Given the description of an element on the screen output the (x, y) to click on. 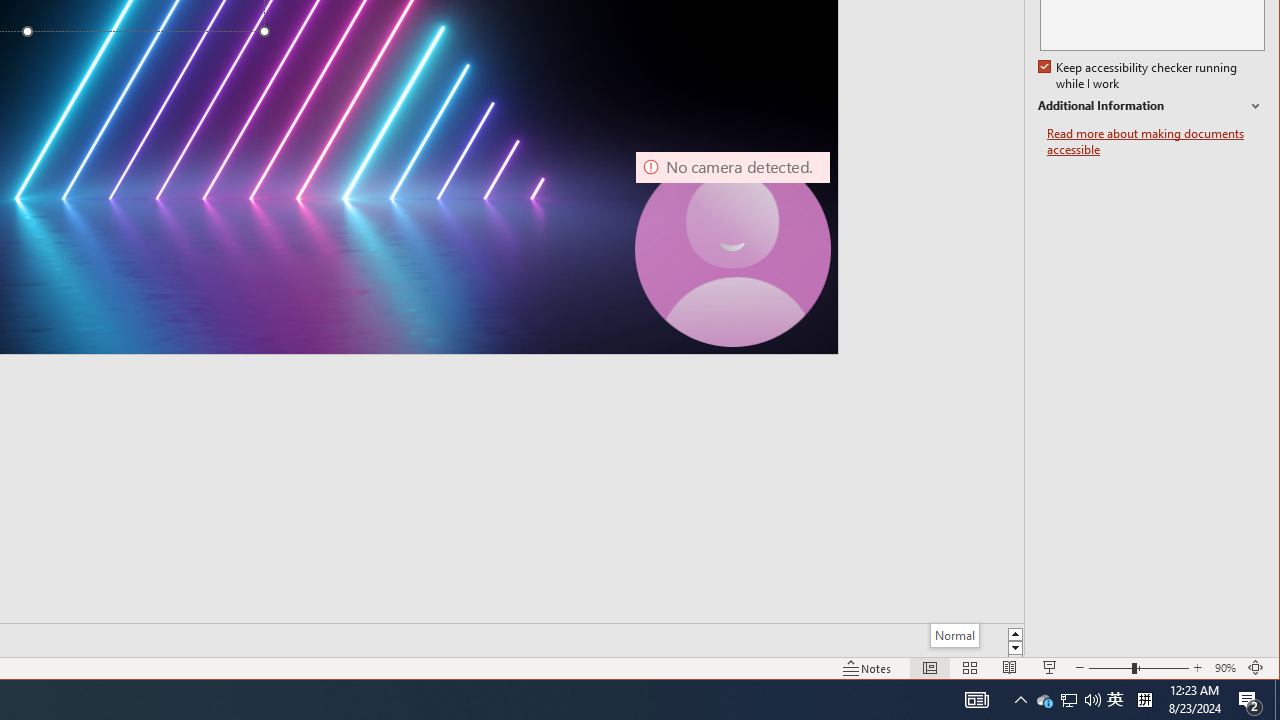
Show desktop (1277, 699)
Notification Chevron (1020, 699)
AutomationID: 4105 (976, 699)
Q2790: 100% (1115, 699)
Read more about making documents accessible (1092, 699)
Camera 7, No camera detected. (1044, 699)
Additional Information (1155, 142)
User Promoted Notification Area (732, 249)
